Given the description of an element on the screen output the (x, y) to click on. 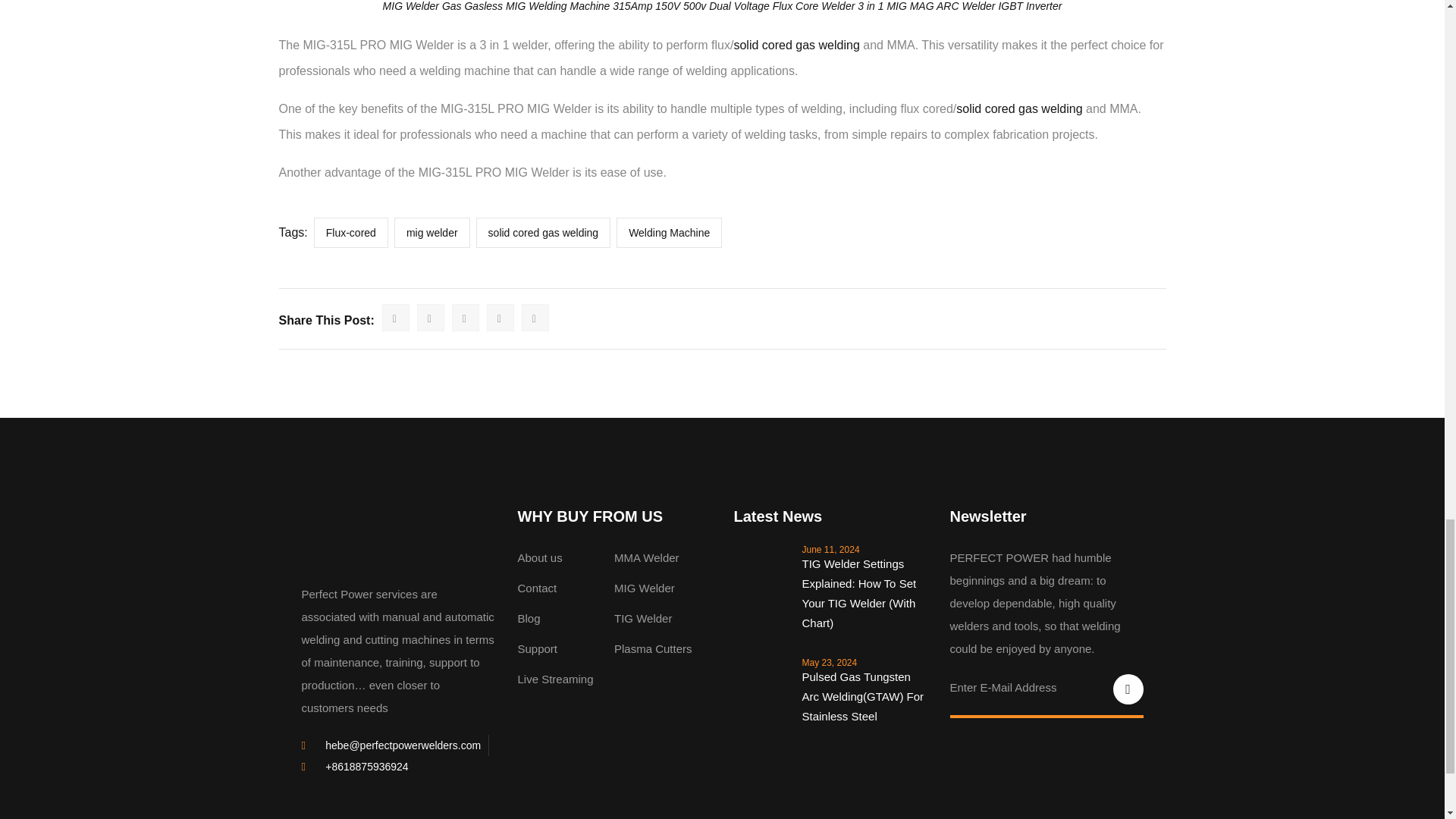
View all posts in Welding Machine (569, 6)
View all posts in solid cored gas welding (1018, 108)
View all posts in solid cored gas welding (796, 44)
Home (356, 538)
Subscribe (1127, 689)
